Given the description of an element on the screen output the (x, y) to click on. 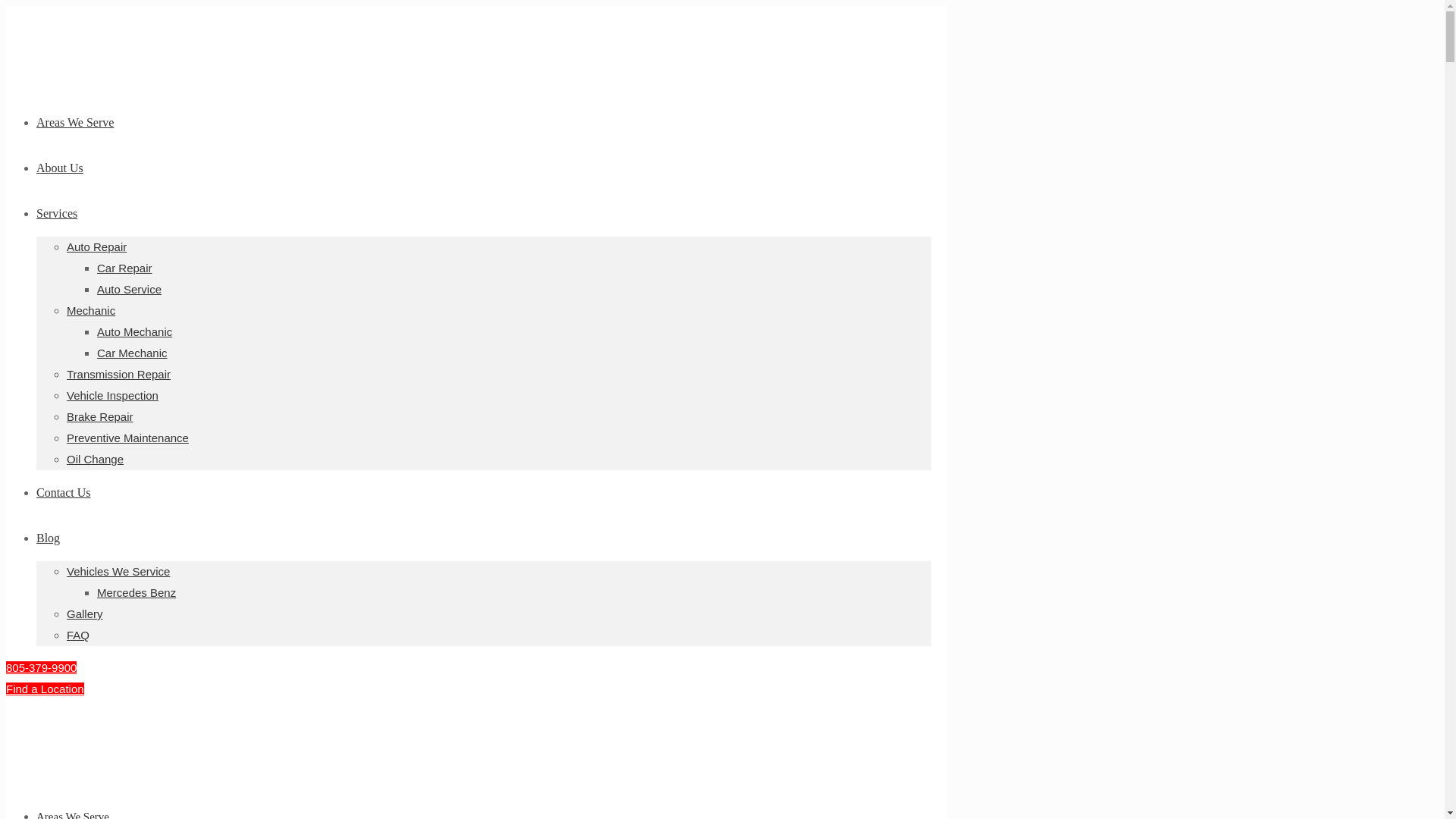
Services (56, 213)
Auto Service (129, 288)
Brake Repair (99, 416)
Auto Mechanic (134, 331)
Contact Us (63, 492)
Mechanic (90, 309)
805-379-9900 (41, 667)
Areas We Serve (74, 122)
Find a Location (44, 688)
Blog (47, 537)
Areas We Serve (72, 814)
Auto Repair (96, 246)
Vehicles We Service (118, 571)
Oil Change (94, 459)
Mercedes Benz (136, 592)
